Given the description of an element on the screen output the (x, y) to click on. 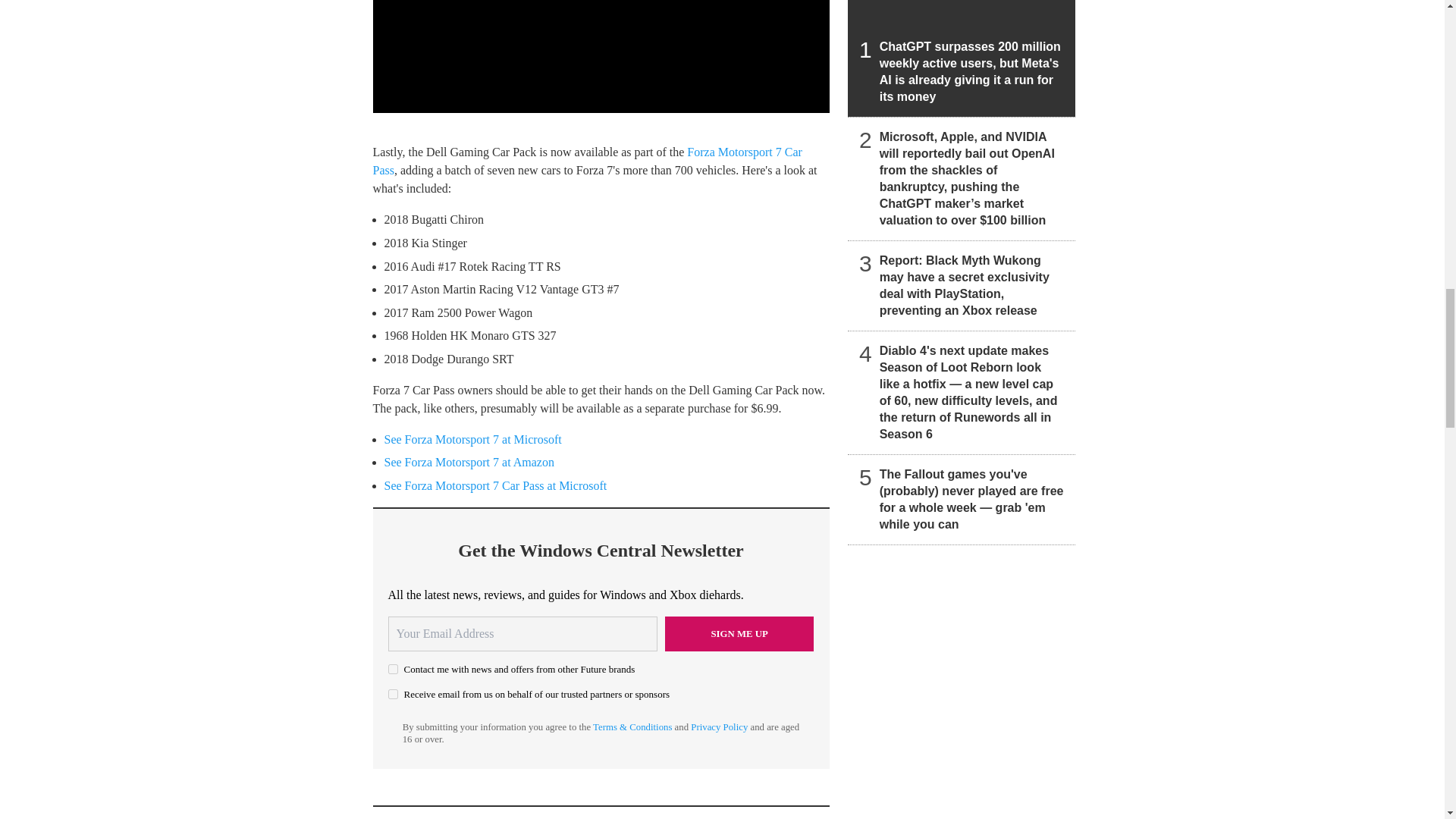
on (392, 669)
See Forza Motorsport 7 at Microsoft (472, 439)
on (392, 694)
Sign me up (739, 633)
Sign me up (739, 633)
See Forza Motorsport 7 Car Pass at Microsoft (495, 485)
See Forza Motorsport 7 at Amazon (468, 461)
Forza Motorsport 7 Car Pass (587, 160)
